Given the description of an element on the screen output the (x, y) to click on. 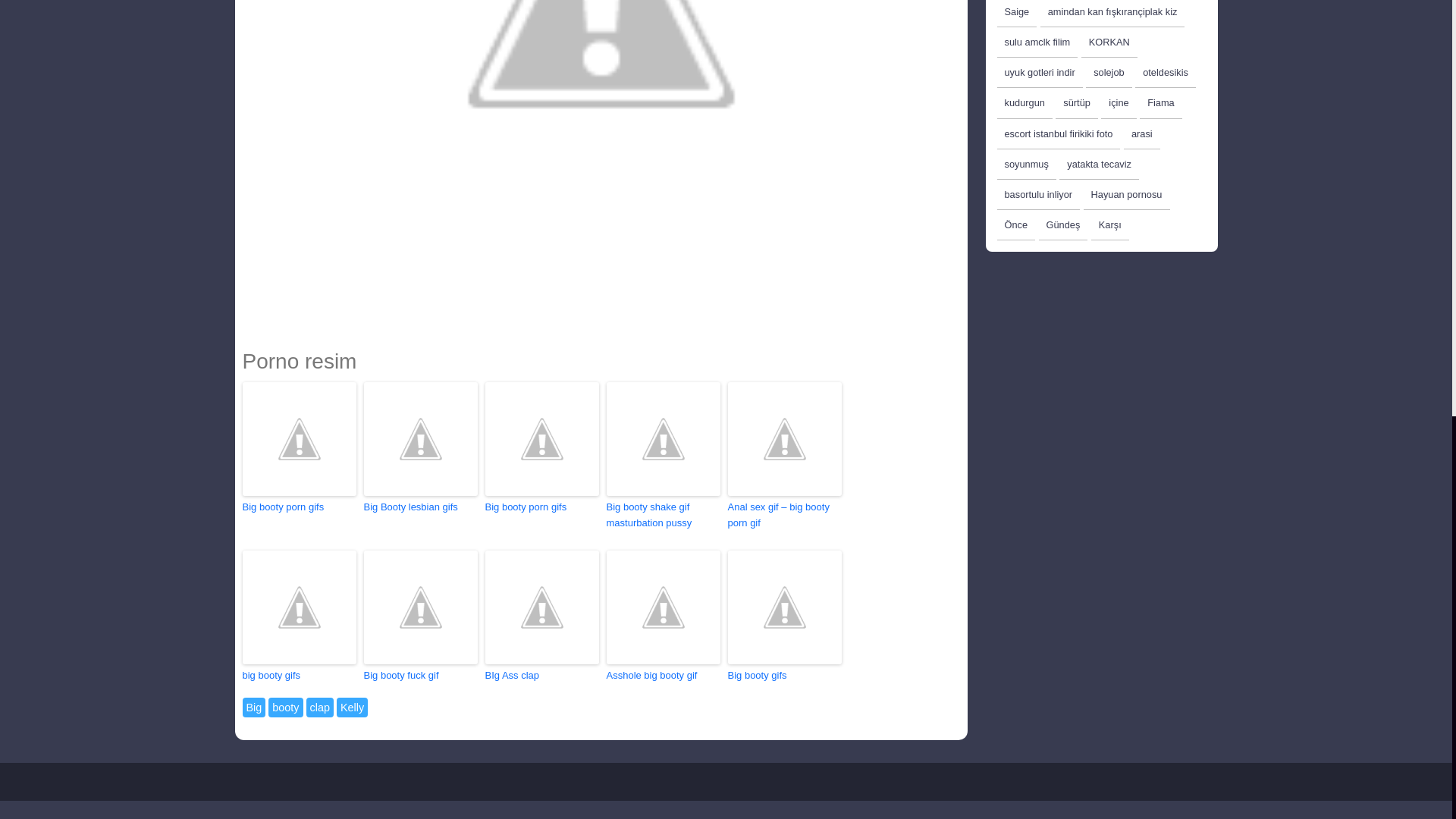
booty (284, 707)
big booty gifs (299, 675)
Big booty porn gifs (541, 507)
Asshole big booty gif (663, 675)
clap (319, 707)
Big booty shake gif masturbation pussy (663, 515)
Big booty fuck gif (420, 675)
Big (254, 707)
BIg Ass clap (541, 675)
Big booty gifs (784, 675)
